Given the description of an element on the screen output the (x, y) to click on. 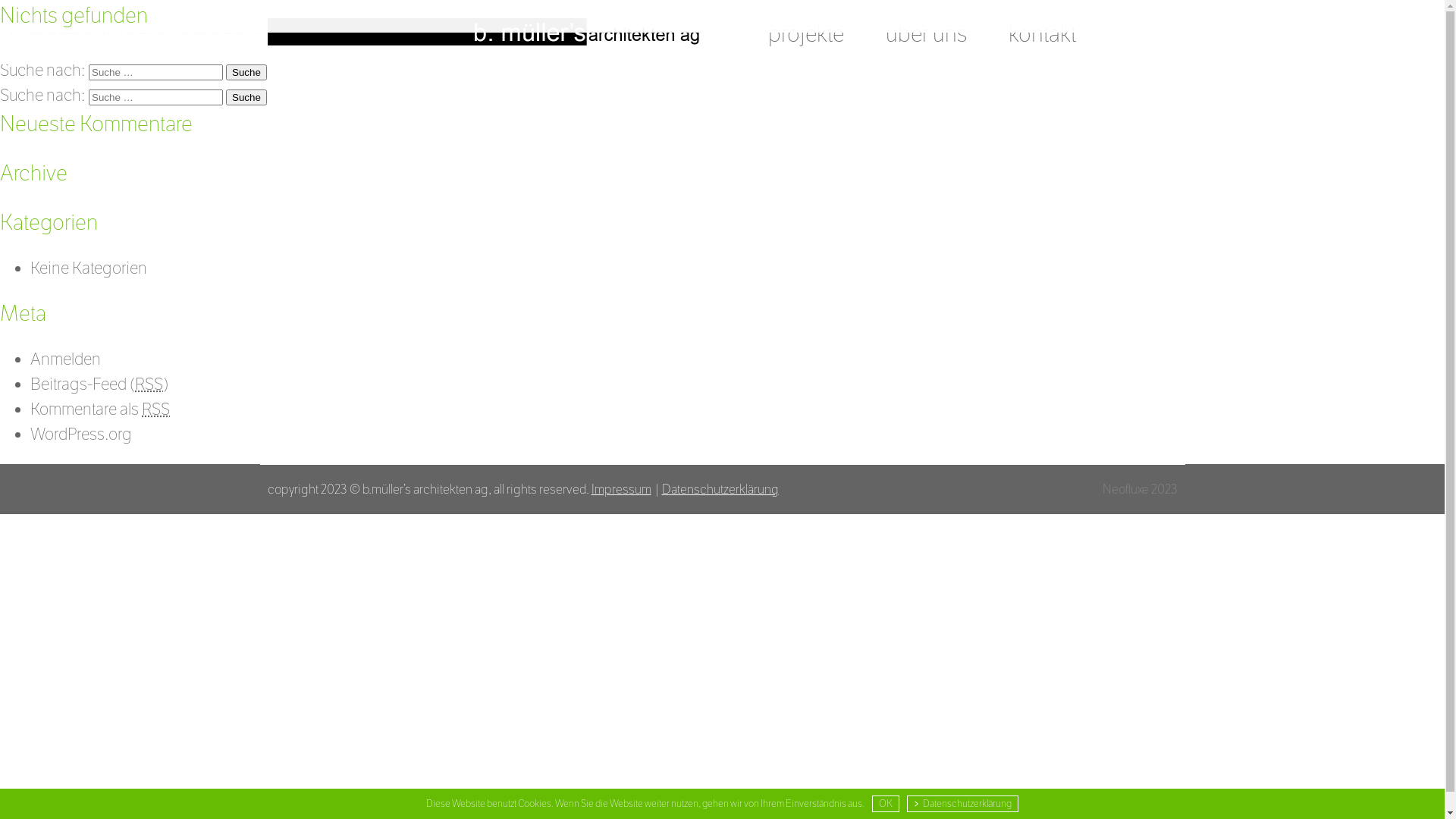
kontakt Element type: text (1042, 33)
Beitrags-Feed (RSS) Element type: text (99, 384)
OK Element type: text (885, 803)
Anmelden Element type: text (65, 359)
Impressum Element type: text (621, 489)
Kommentare als RSS Element type: text (99, 409)
Neofluxe 2023 Element type: text (1139, 489)
Suche Element type: text (245, 72)
WordPress.org Element type: text (80, 434)
projekte Element type: text (805, 33)
Suche Element type: text (245, 97)
